Given the description of an element on the screen output the (x, y) to click on. 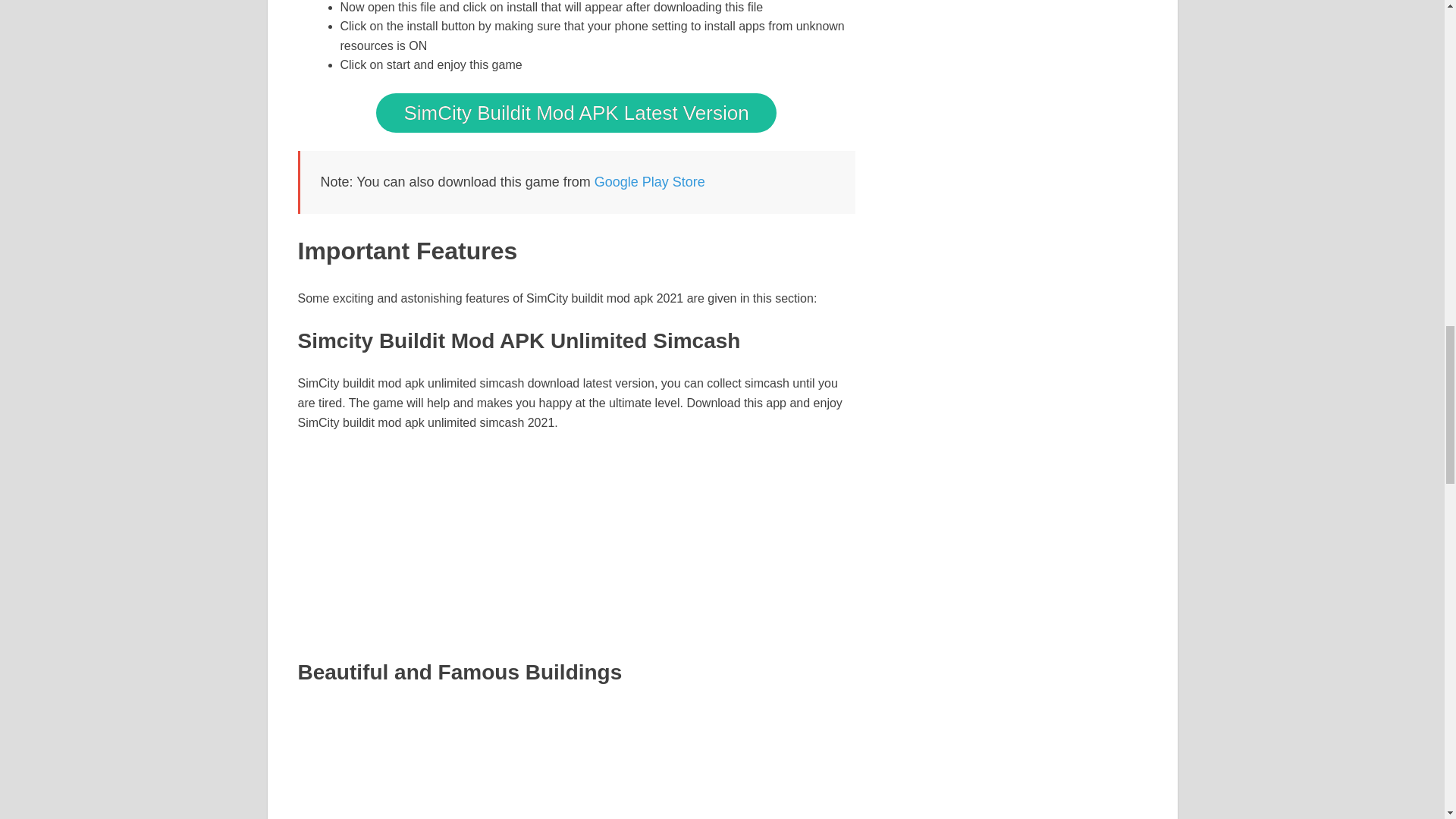
SimCity Buildit Mod APK Latest Version (575, 112)
Google Play Store (649, 181)
